Given the description of an element on the screen output the (x, y) to click on. 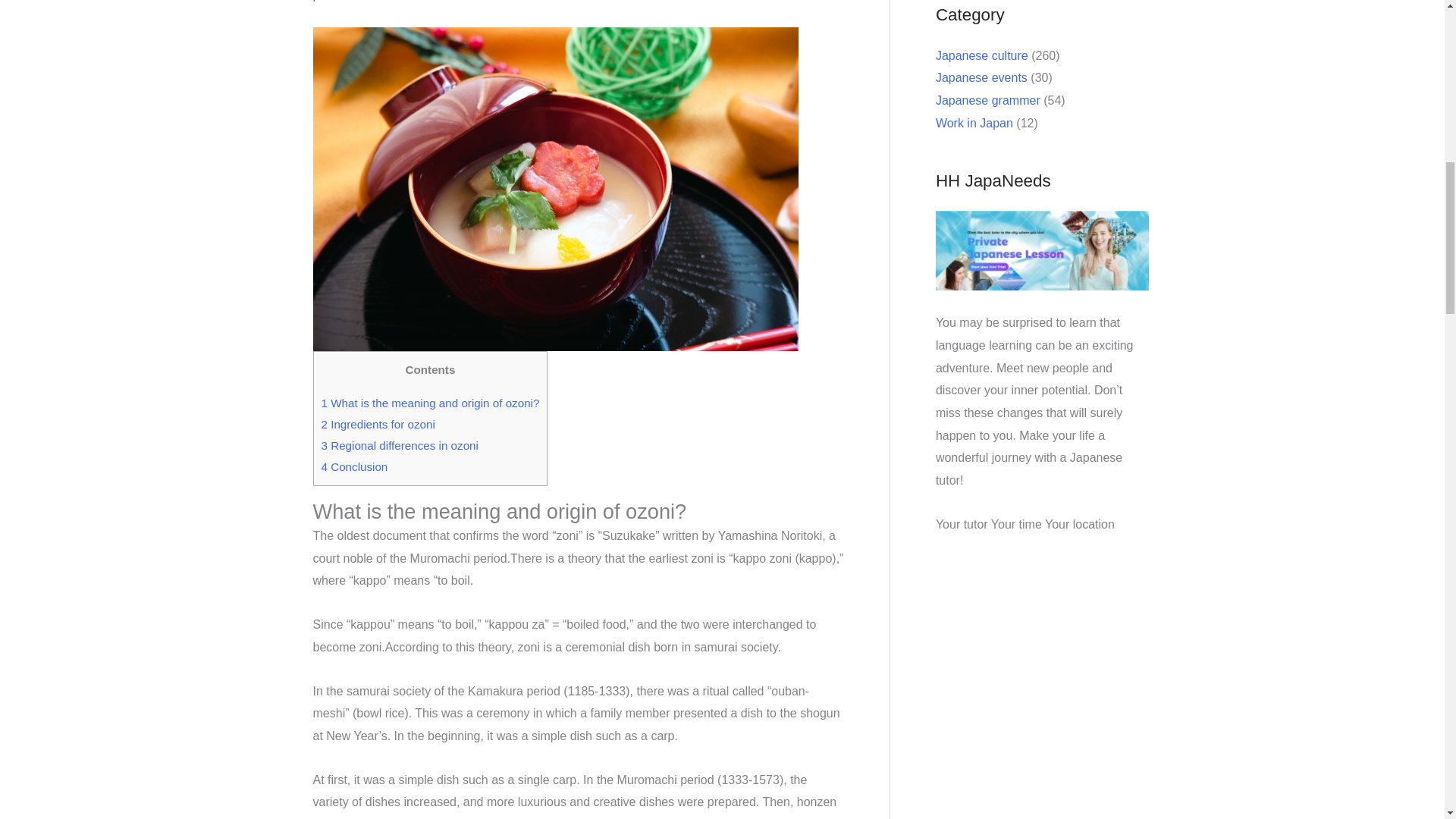
1 What is the meaning and origin of ozoni? (430, 402)
2 Ingredients for ozoni (378, 423)
4 Conclusion (354, 466)
3 Regional differences in ozoni (400, 445)
